Given the description of an element on the screen output the (x, y) to click on. 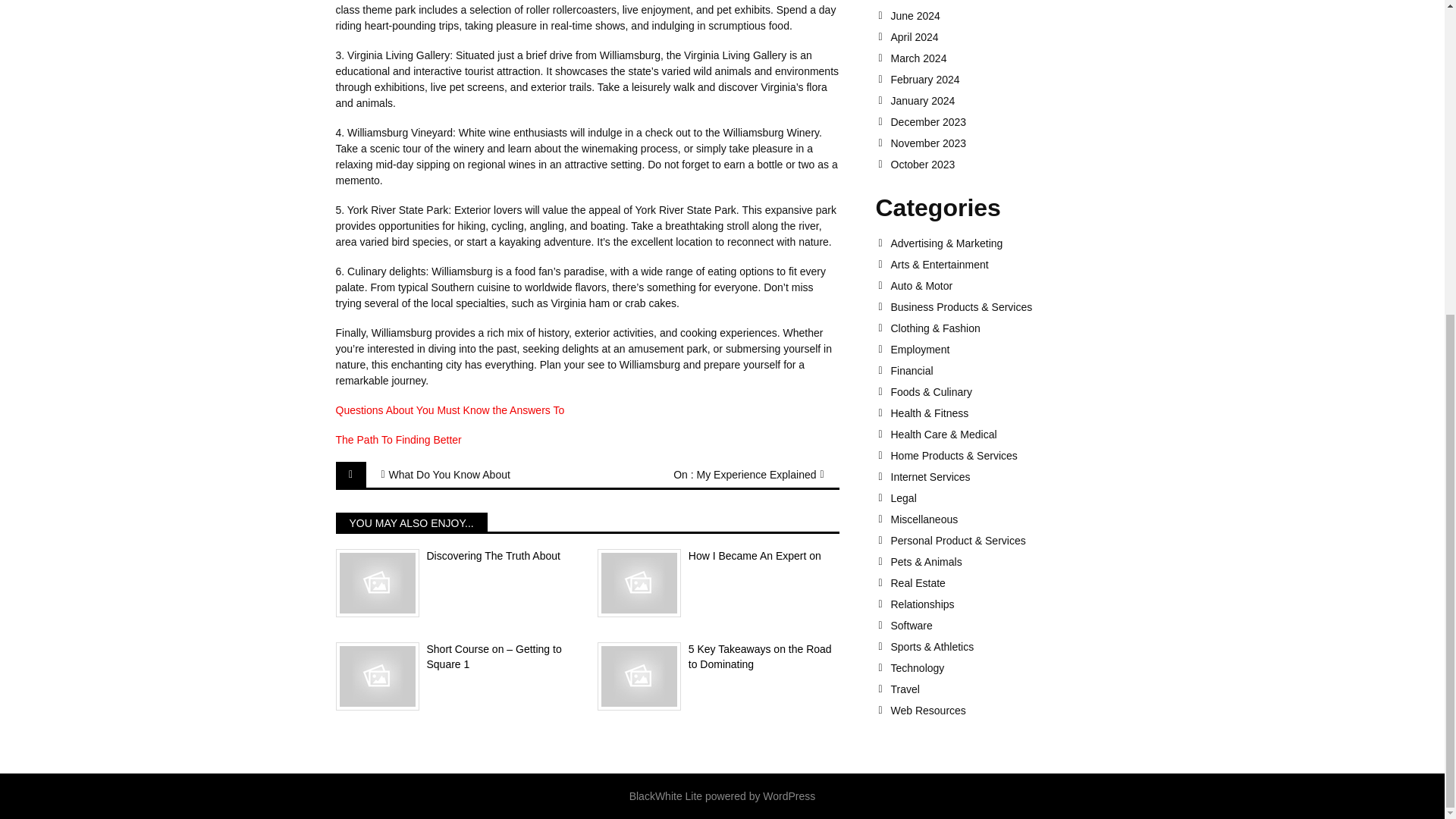
5 Key Takeaways on the Road to Dominating (718, 656)
The Path To Finding Better (397, 439)
February 2024 (998, 79)
On : My Experience Explained (739, 474)
October 2023 (998, 164)
June 2024 (998, 15)
March 2024 (998, 58)
Financial (998, 370)
Questions About You Must Know the Answers To (449, 410)
April 2024 (998, 37)
